Given the description of an element on the screen output the (x, y) to click on. 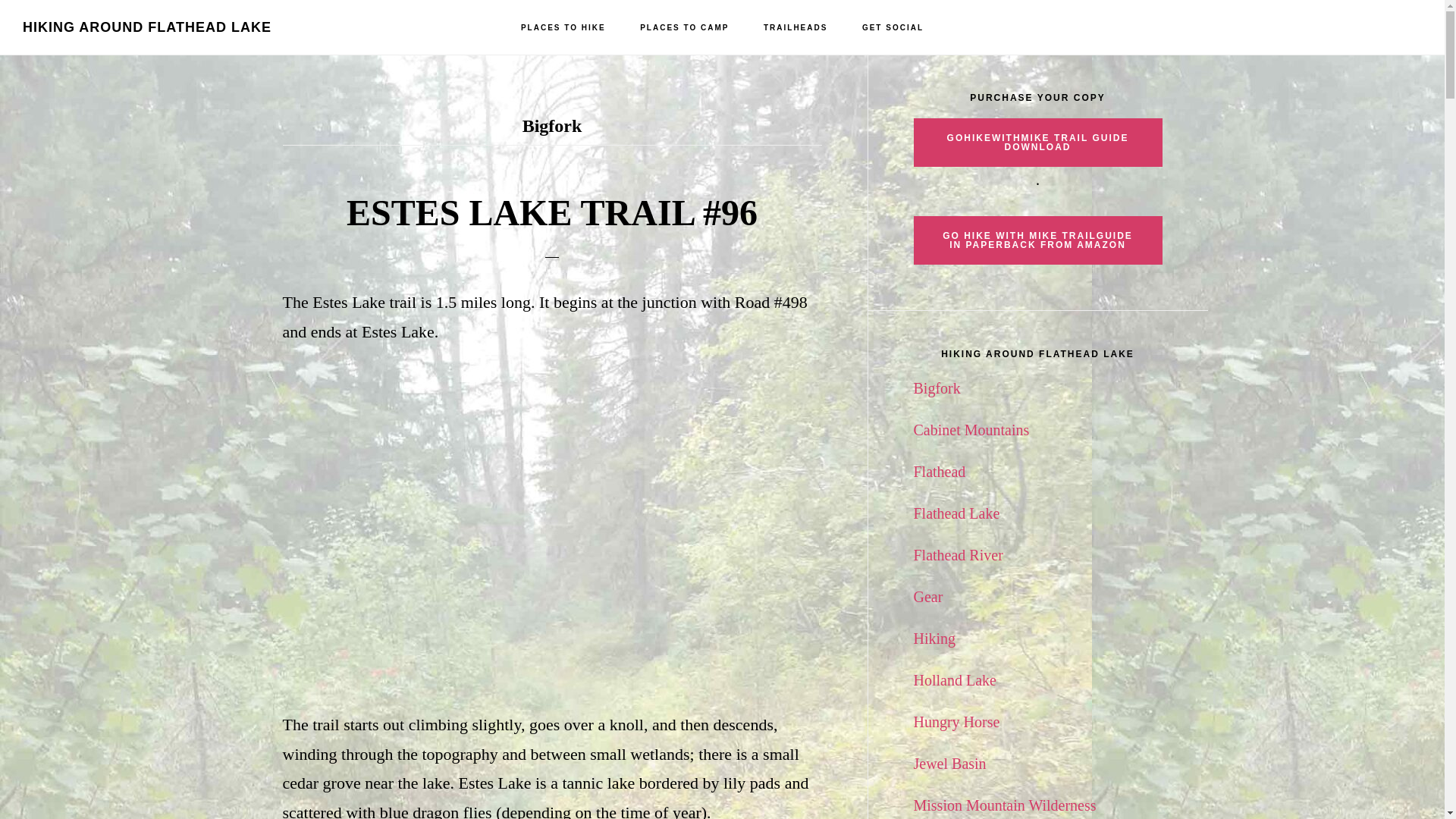
PLACES TO HIKE (563, 27)
PLACES TO CAMP (684, 27)
GET SOCIAL (893, 27)
TRAILHEADS (795, 27)
HIKING AROUND FLATHEAD LAKE (146, 27)
